Given the description of an element on the screen output the (x, y) to click on. 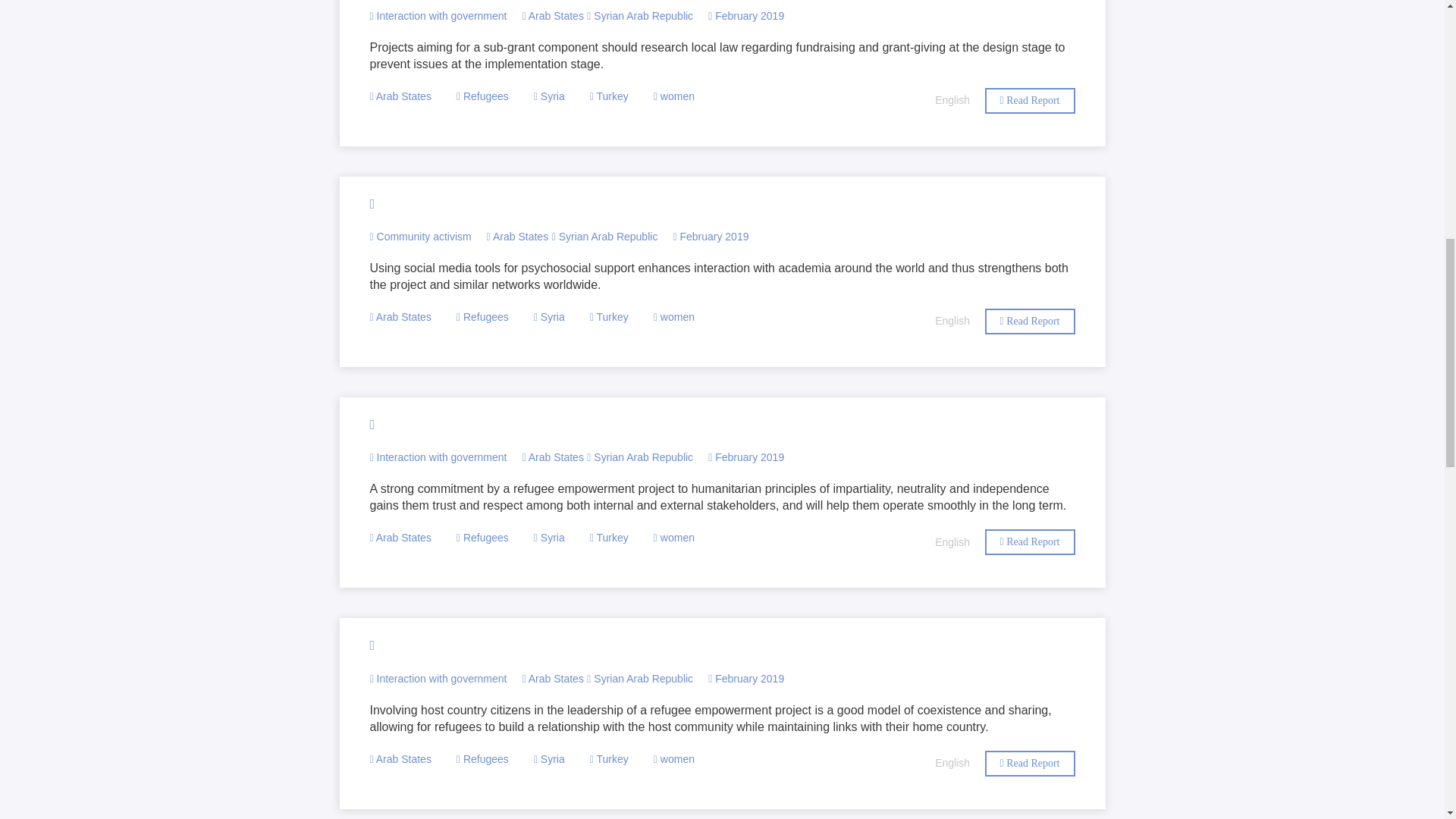
Syria (549, 316)
Syria (549, 96)
Arab States (399, 96)
Syrian Arab Republic (604, 236)
Interaction with government (437, 15)
Syrian Arab Republic (639, 15)
women (673, 96)
Arab States (517, 236)
Turkey (608, 316)
Refugees (482, 316)
Arab States (552, 15)
Community activism (420, 236)
Turkey (608, 96)
Read Report (1029, 100)
Arab States (399, 316)
